Given the description of an element on the screen output the (x, y) to click on. 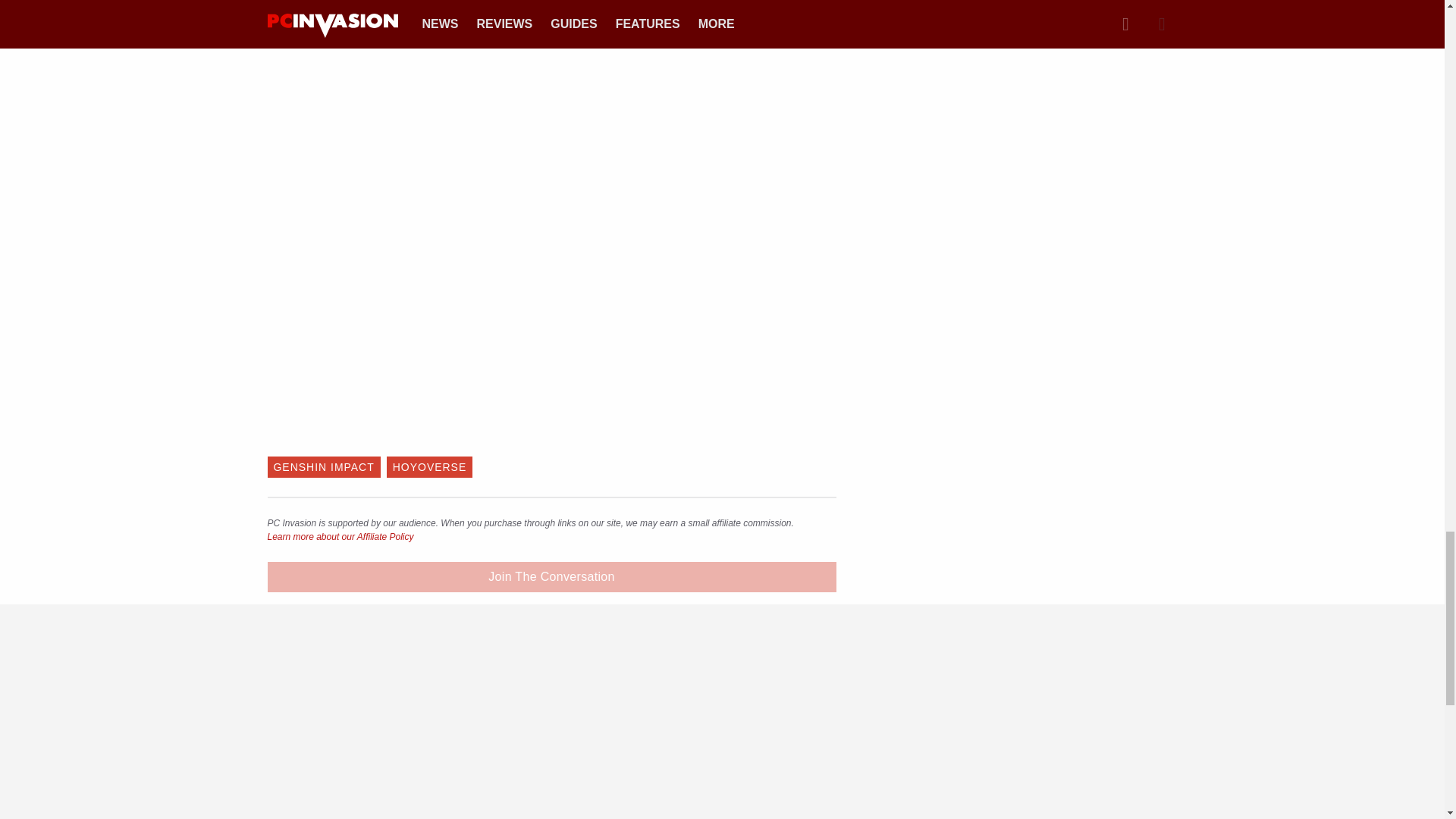
Join The Conversation (550, 576)
GENSHIN IMPACT (323, 466)
